Given the description of an element on the screen output the (x, y) to click on. 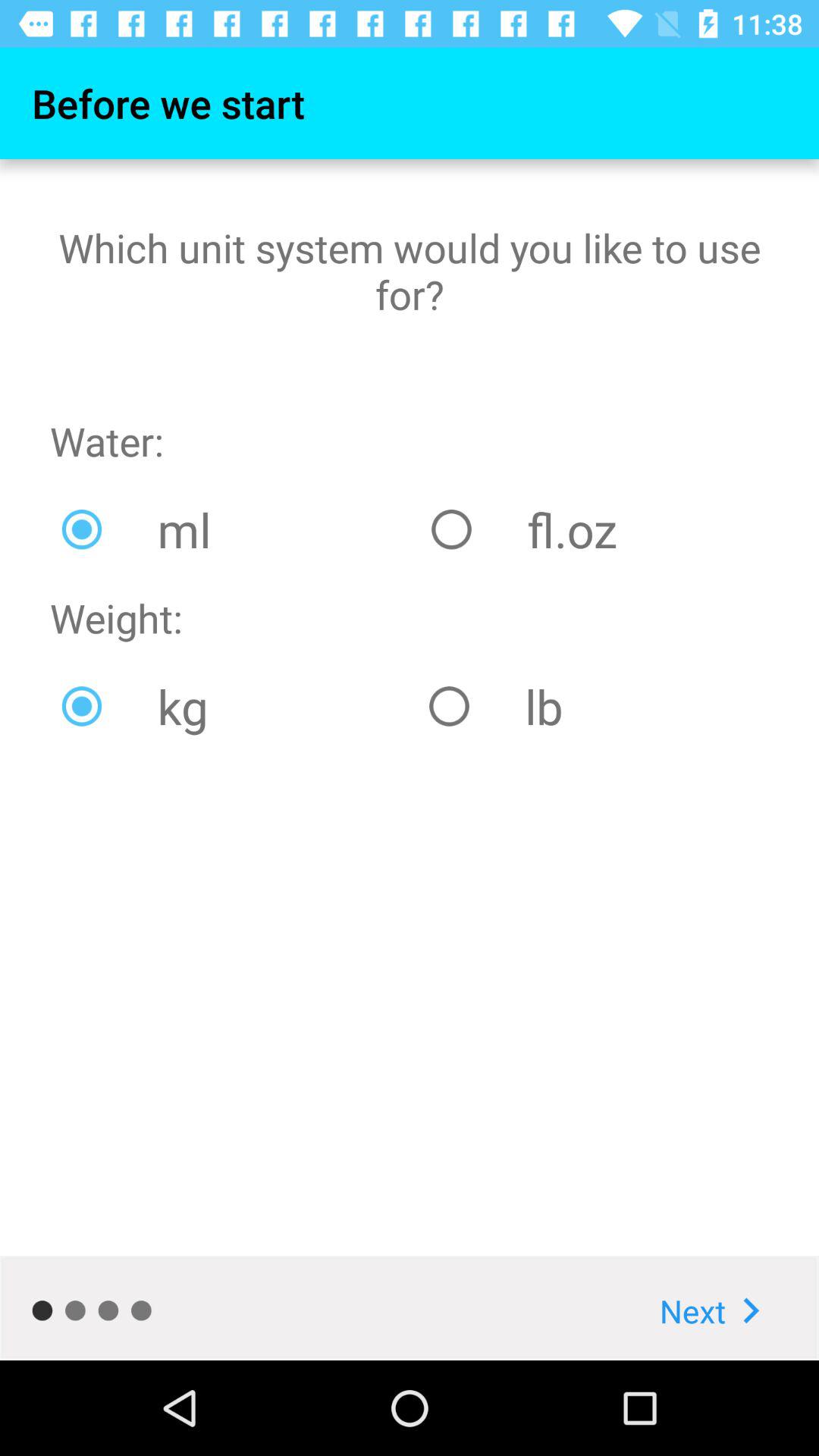
flip until the lb icon (592, 706)
